Given the description of an element on the screen output the (x, y) to click on. 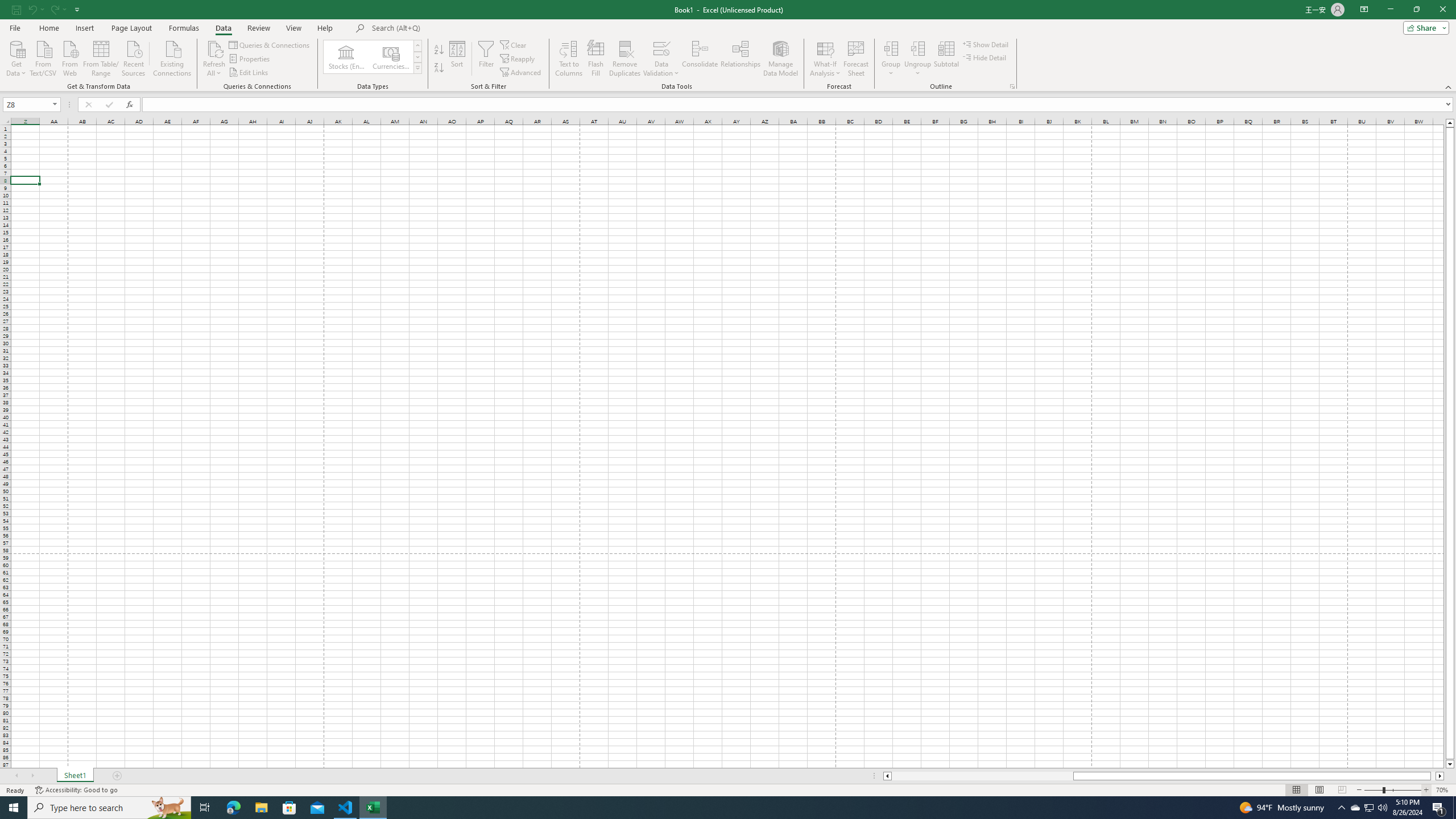
Reapply (517, 58)
Relationships (740, 58)
Recent Sources (133, 57)
Advanced... (520, 72)
Remove Duplicates (625, 58)
Data Types (417, 67)
